Given the description of an element on the screen output the (x, y) to click on. 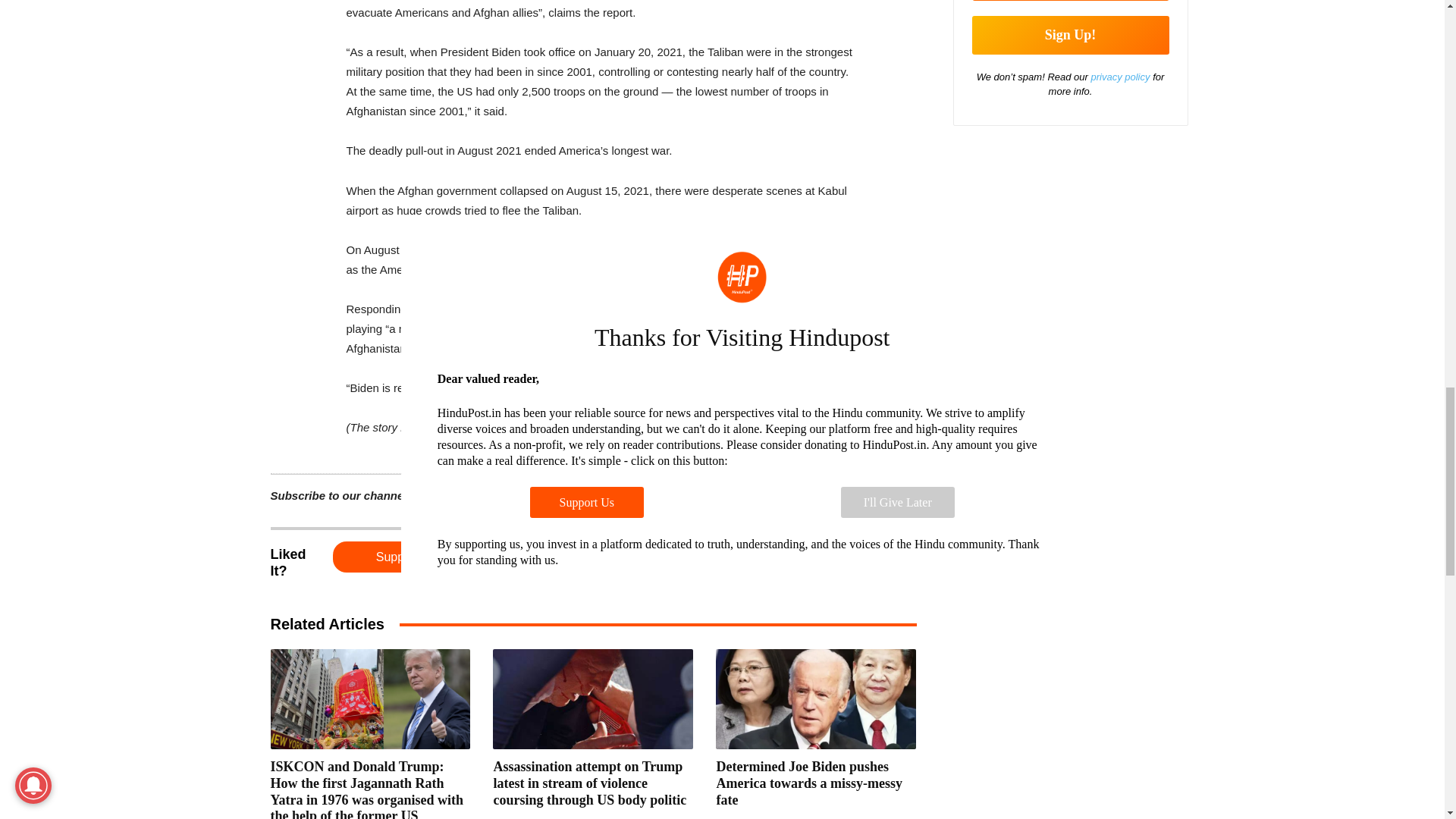
Sign Up! (1070, 34)
